Given the description of an element on the screen output the (x, y) to click on. 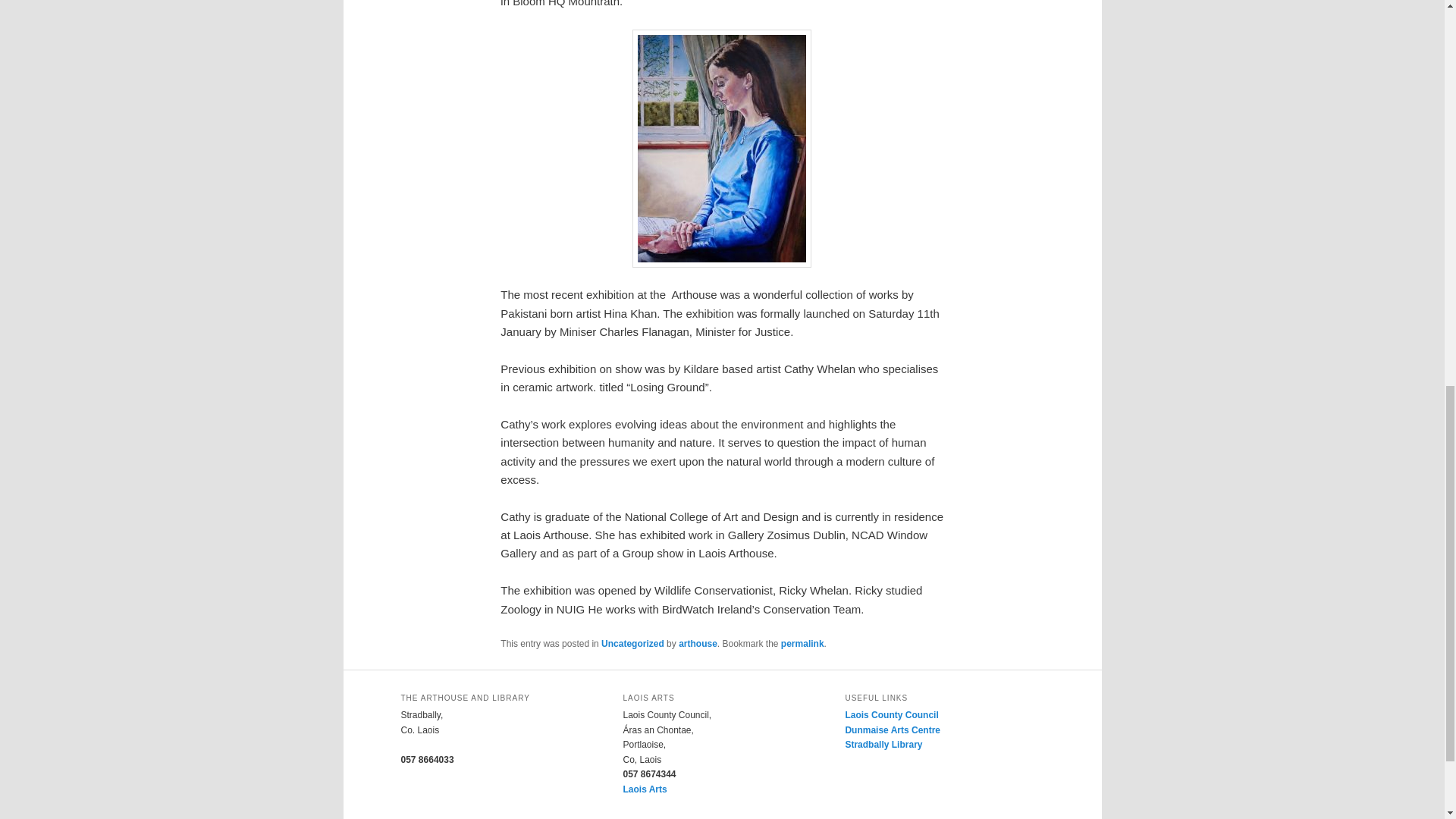
arthouse (697, 643)
Uncategorized (632, 643)
permalink (802, 643)
Laois Arts (644, 788)
Stradbally Library (882, 744)
Dunmaise Arts Centre (892, 729)
Laois County Council (890, 715)
